Given the description of an element on the screen output the (x, y) to click on. 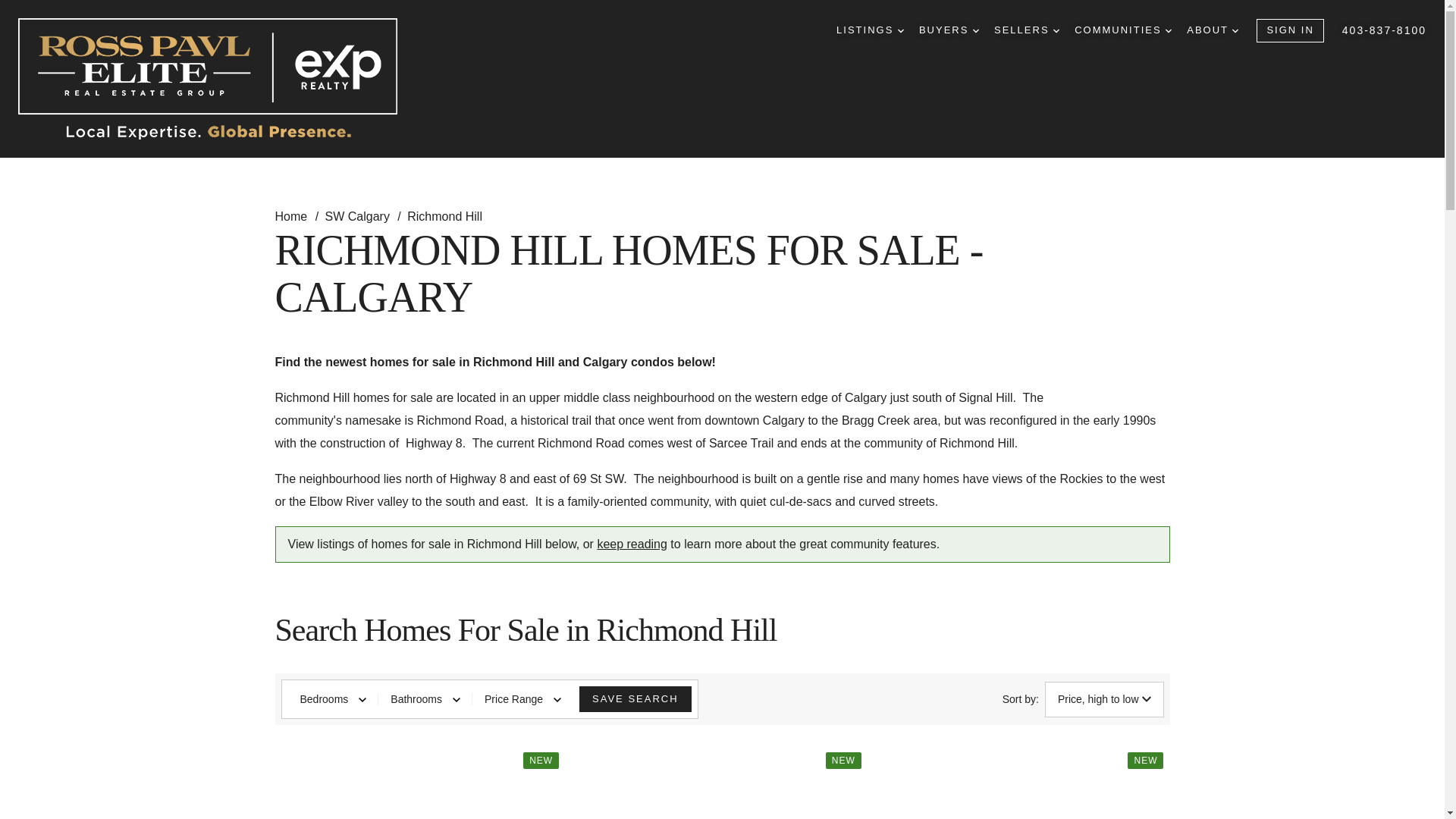
403-837-8100 (1384, 29)
COMMUNITIES DROPDOWN ARROW (1123, 30)
Home (292, 215)
DROPDOWN ARROW (975, 30)
DROPDOWN ARROW (1055, 30)
SIGN IN (1289, 30)
DROPDOWN ARROW (1169, 30)
DROPDOWN ARROW (901, 30)
SELLERS DROPDOWN ARROW (1026, 30)
ABOUT DROPDOWN ARROW (1212, 30)
SW Calgary (358, 215)
DROPDOWN ARROW (1235, 30)
BUYERS DROPDOWN ARROW (948, 30)
LISTINGS DROPDOWN ARROW (869, 30)
